Given the description of an element on the screen output the (x, y) to click on. 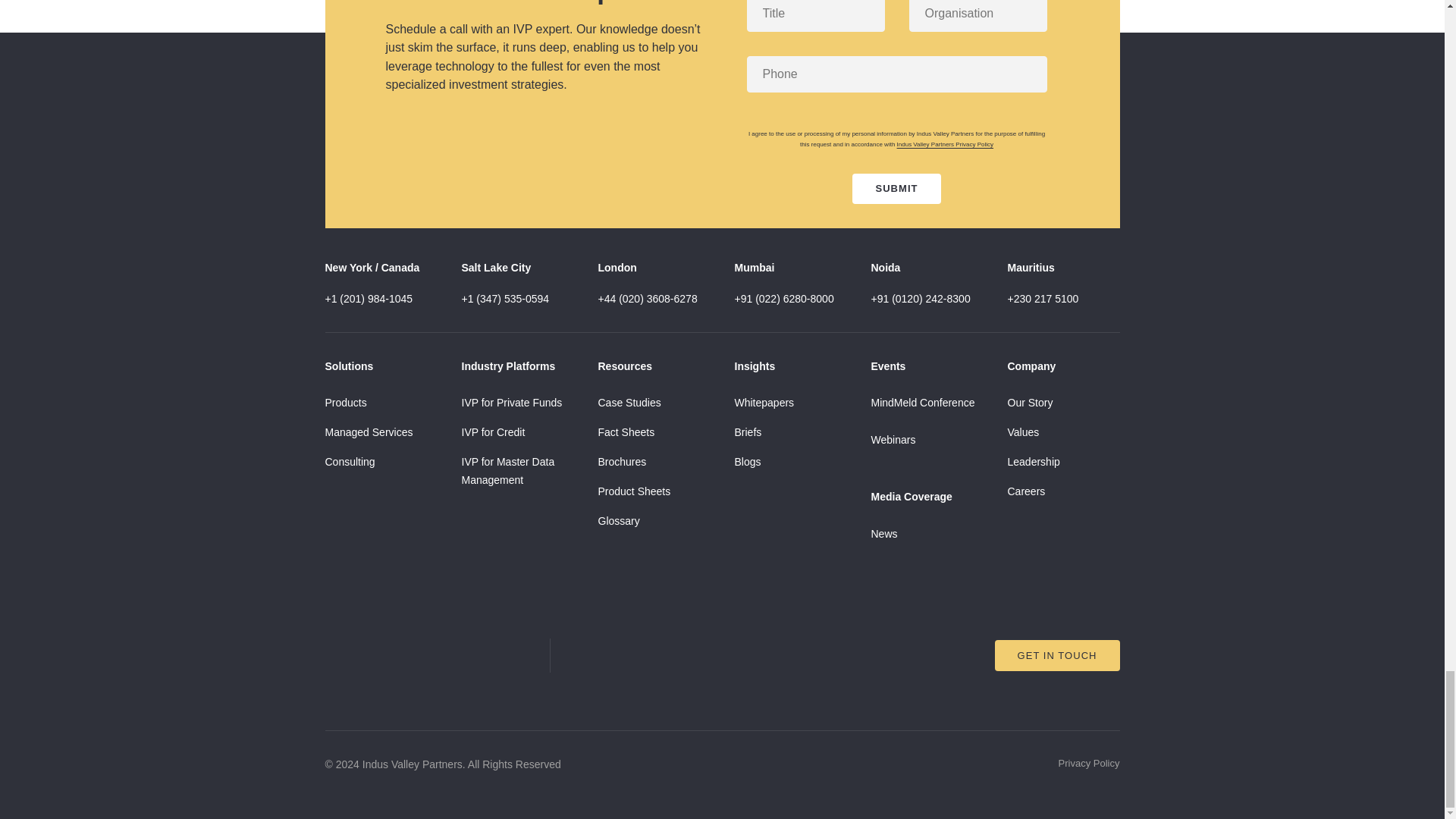
Indus Valley Partners Privacy Policy (944, 144)
Facebook (680, 655)
LinkedIn (583, 655)
SUBMIT (895, 188)
Twitter (632, 655)
